Given the description of an element on the screen output the (x, y) to click on. 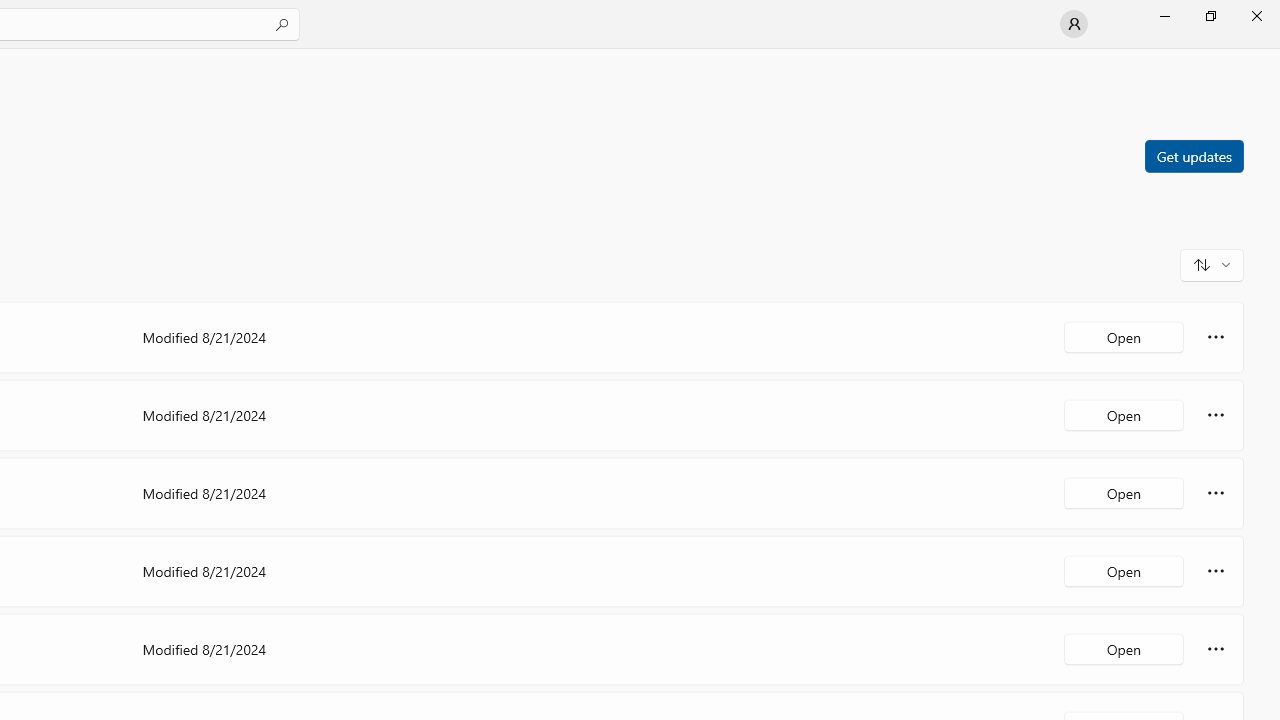
Open (1123, 648)
Close Microsoft Store (1256, 15)
Minimize Microsoft Store (1164, 15)
Restore Microsoft Store (1210, 15)
More options (1215, 648)
Sort and filter (1212, 263)
Get updates (1193, 155)
User profile (1073, 24)
